Given the description of an element on the screen output the (x, y) to click on. 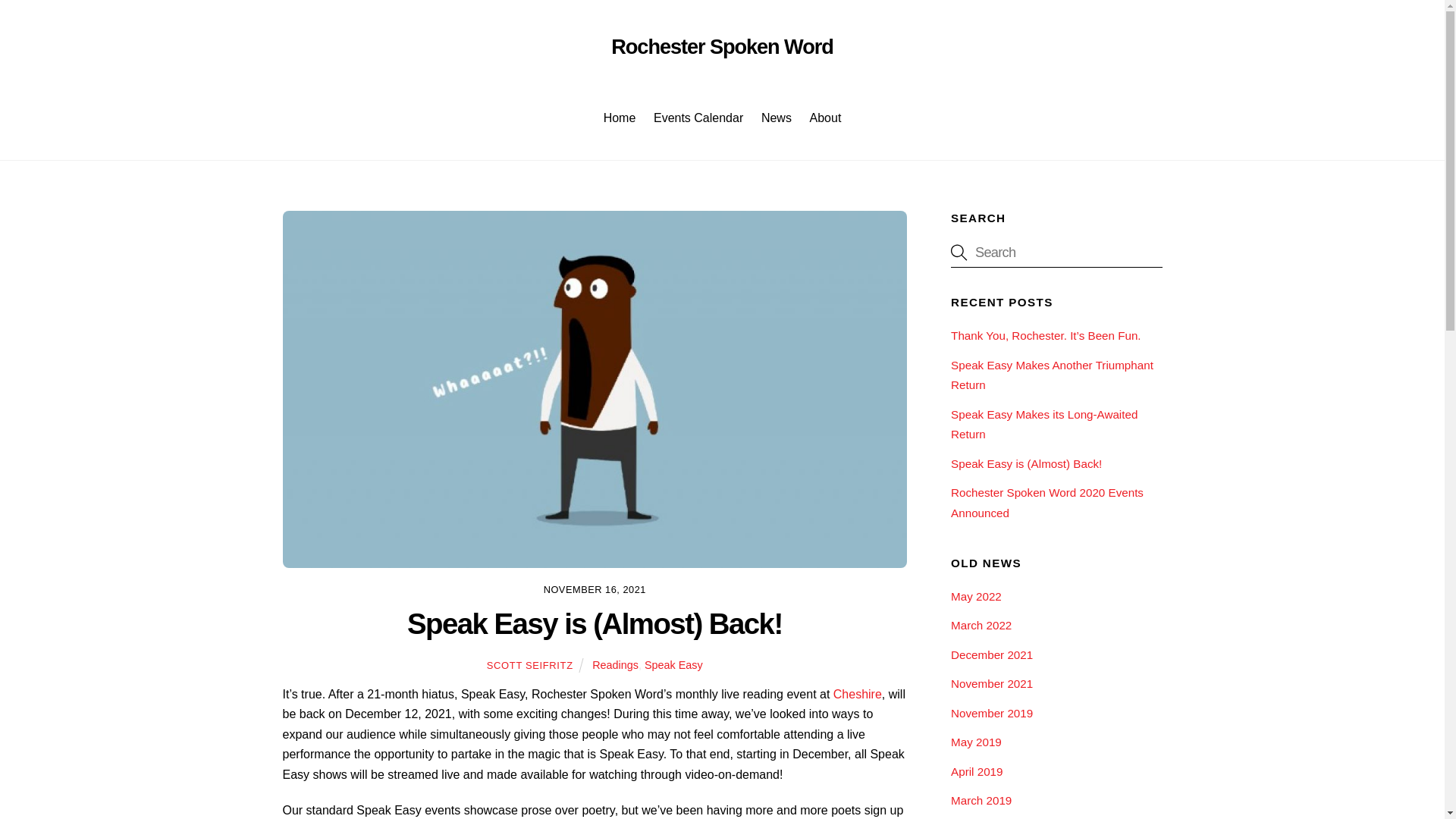
SCOTT SEIFRITZ (529, 665)
May 2022 (975, 595)
Readings (615, 664)
Speak Easy Makes Another Triumphant Return (1051, 374)
Events Calendar (721, 102)
Speak Easy (697, 117)
News (674, 664)
Rochester Spoken Word (775, 117)
Speak Easy Makes its Long-Awaited Return (721, 46)
Search (1043, 423)
November 2019 (1055, 251)
March 2022 (991, 712)
Home (980, 625)
